Given the description of an element on the screen output the (x, y) to click on. 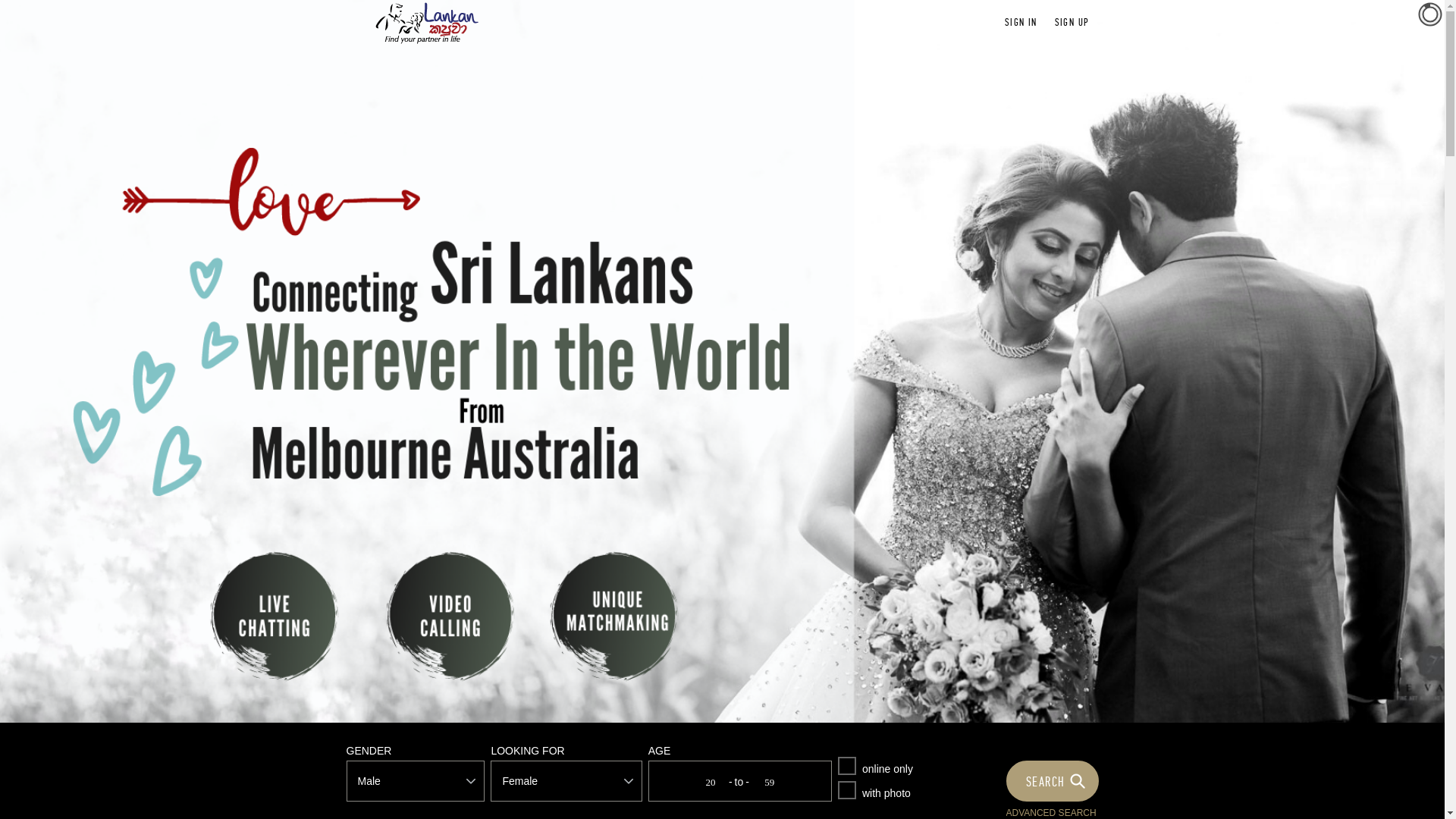
SIGN UP Element type: text (1071, 21)
Search Element type: text (1053, 781)
ADVANCED SEARCH Element type: text (1050, 812)
